Given the description of an element on the screen output the (x, y) to click on. 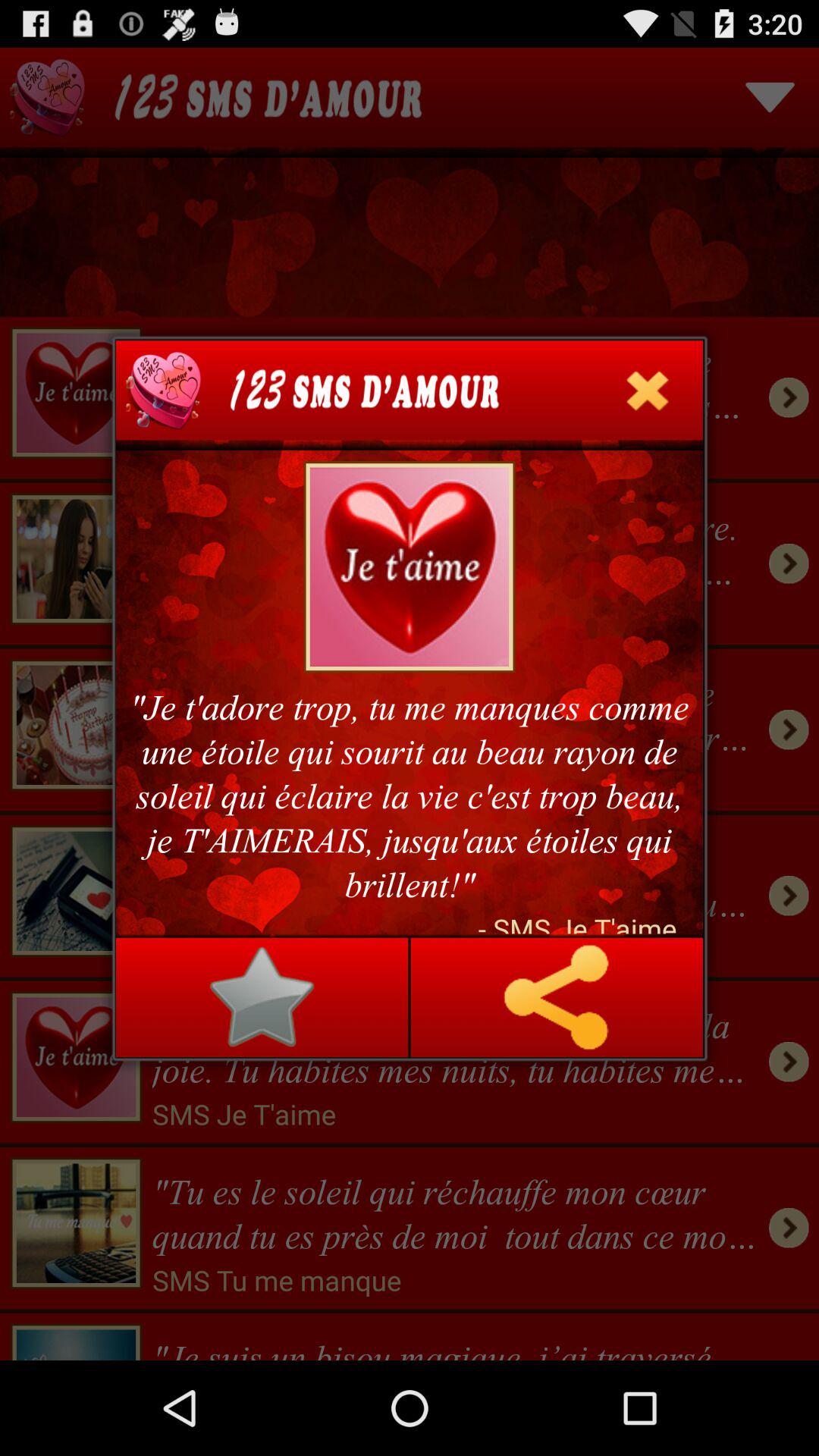
press icon at the bottom right corner (556, 997)
